Given the description of an element on the screen output the (x, y) to click on. 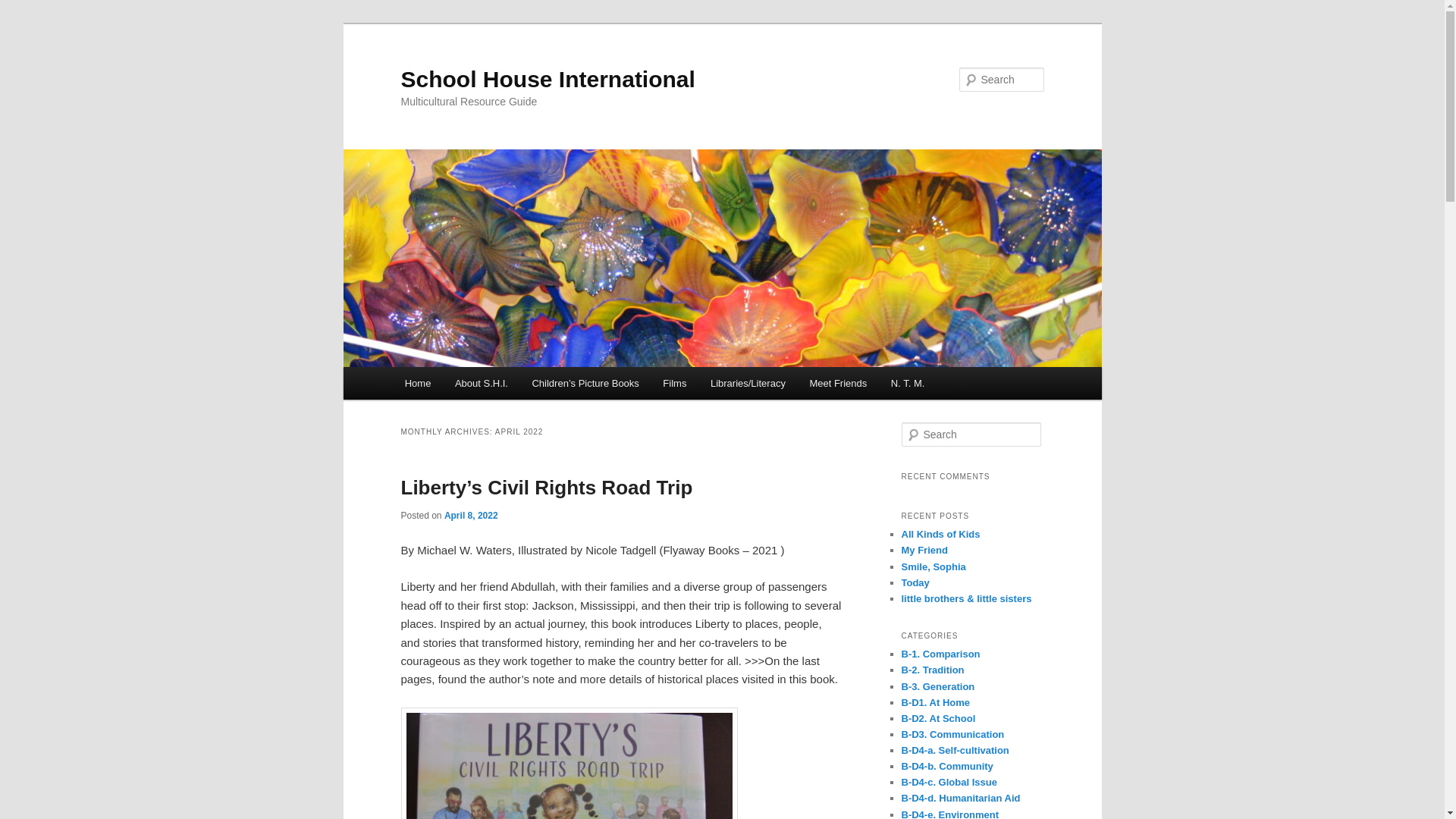
April 8, 2022 (470, 515)
Meet Friends (838, 382)
About S.H.I. (480, 382)
N. T. M. (907, 382)
Search (24, 8)
6:08 pm (470, 515)
School House International (547, 78)
Films (674, 382)
Home (417, 382)
